Given the description of an element on the screen output the (x, y) to click on. 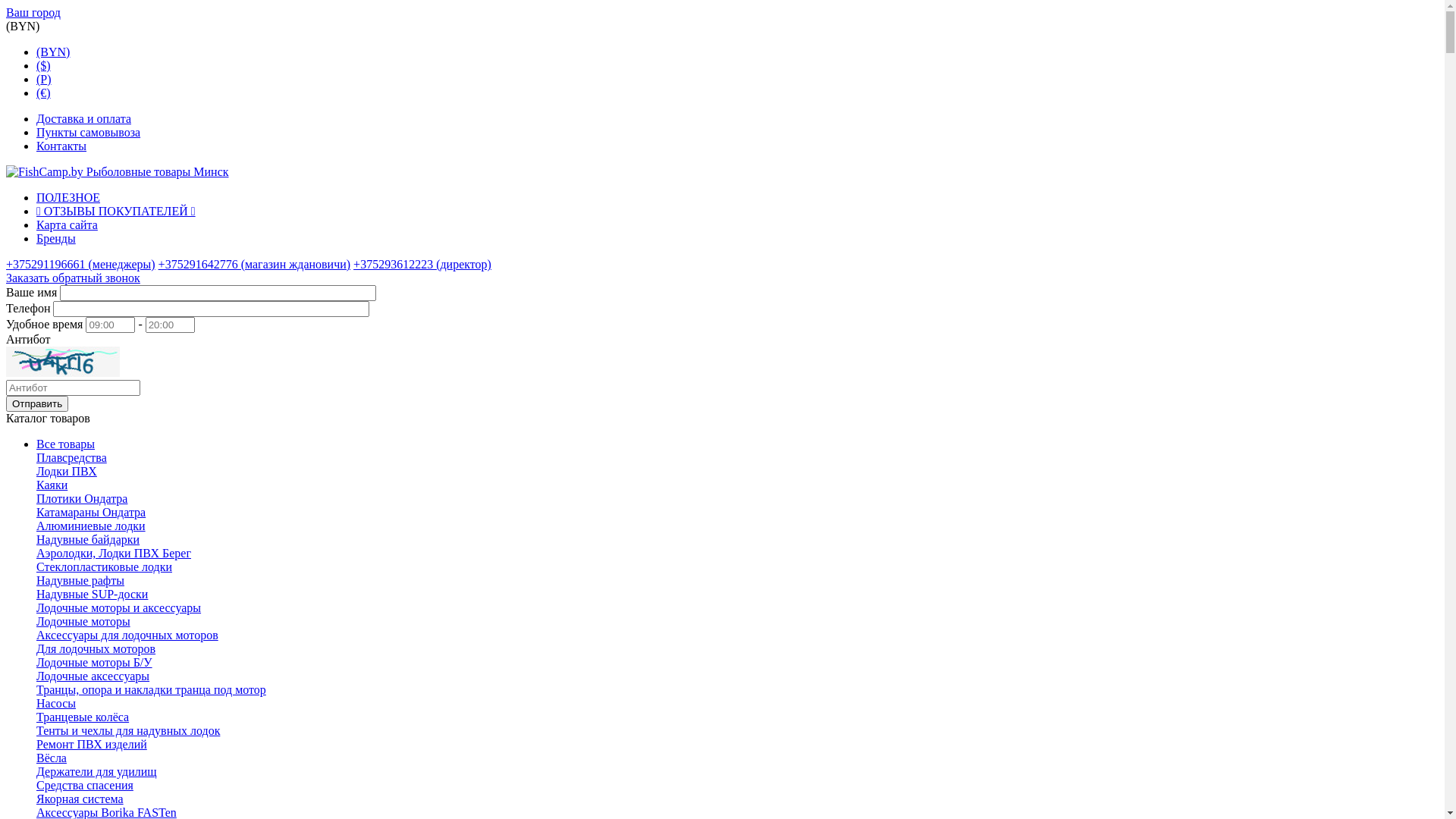
(BYN) Element type: text (52, 51)
($) Element type: text (43, 65)
(BYN) Element type: text (22, 25)
